Given the description of an element on the screen output the (x, y) to click on. 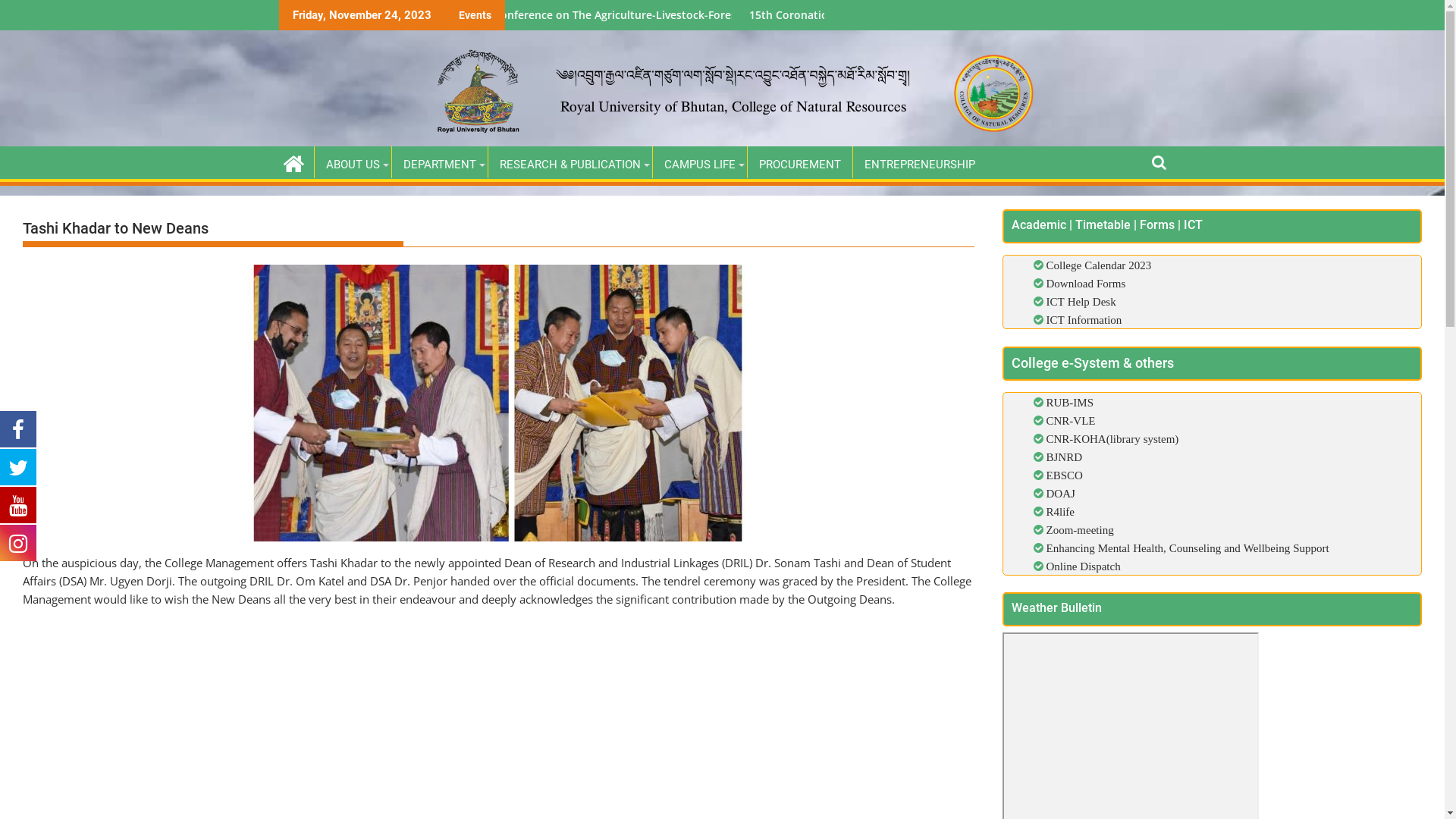
CAMPUS LIFE Element type: text (699, 164)
Enhancing Mental Health, Counseling and Wellbeing Support Element type: text (1186, 547)
ABOUT US Element type: text (351, 164)
Re-Tender Announcement Element type: text (466, 15)
ICT Information Element type: text (1084, 319)
ICT Help Desk Element type: text (1081, 301)
RESEARCH & PUBLICATION Element type: text (570, 164)
Download Forms Element type: text (1086, 282)
Online Dispatch Element type: text (1081, 565)
BJNRD Element type: text (1062, 456)
EBSCO Element type: text (1062, 474)
CNR-College of Natural Resources, RUB Element type: hover (293, 161)
PROCUREMENT Element type: text (799, 164)
CNR-KOHA(library system) Element type: text (1111, 438)
Zoom-meeting Element type: text (1078, 529)
ENTREPRENEURSHIP Element type: text (918, 164)
DOAJ Element type: text (1059, 492)
College Calendar 2023 Element type: text (1098, 264)
DEPARTMENT Element type: text (438, 164)
CNR-VLE Element type: text (1069, 420)
RUB-IMS Element type: text (1068, 401)
R4life Element type: text (1059, 511)
